Given the description of an element on the screen output the (x, y) to click on. 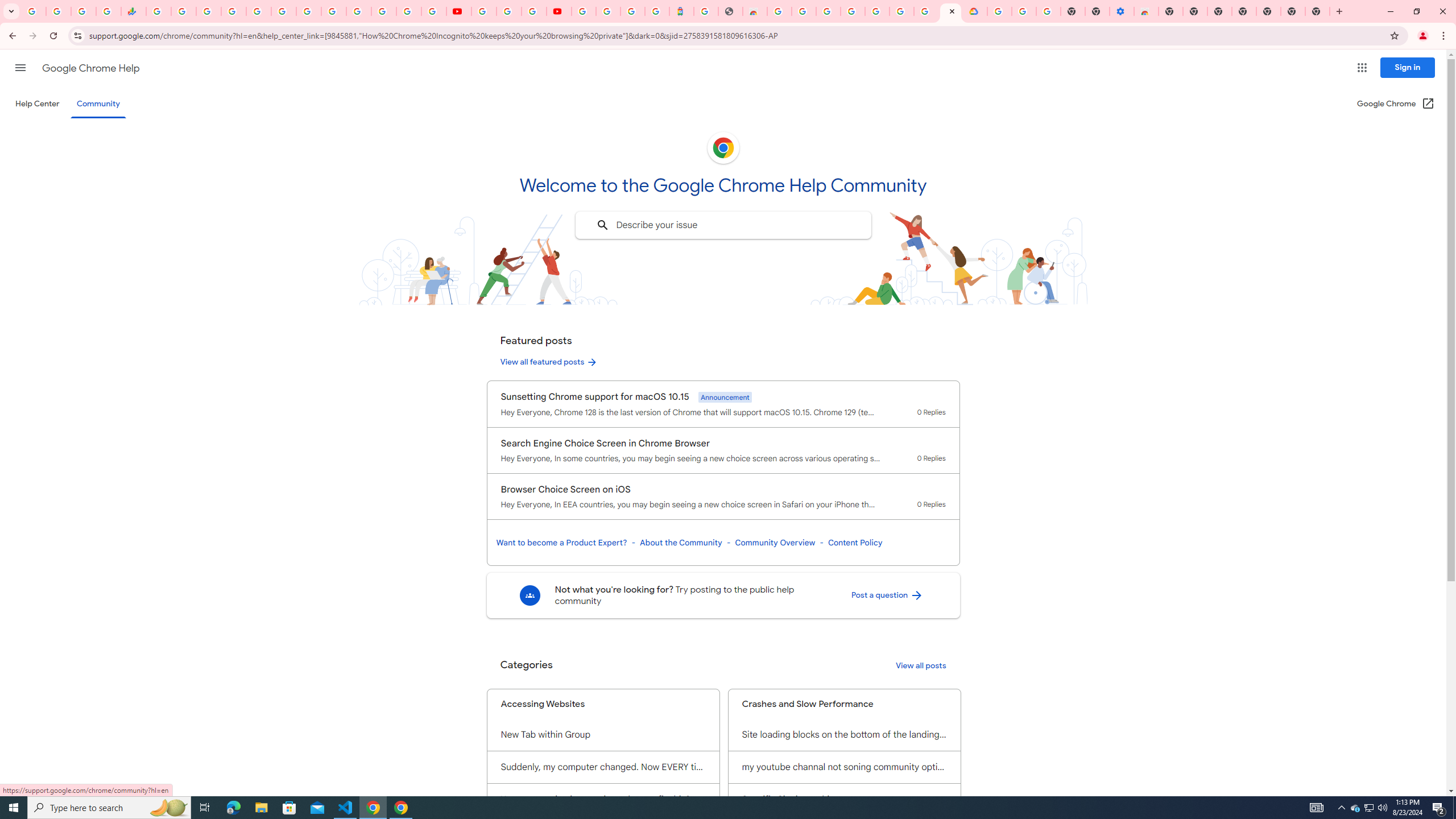
Sign in - Google Accounts (999, 11)
Chrome Web Store - Household (754, 11)
Google Chrome (Open in a new window) (1395, 103)
Help Center (36, 103)
Google Account Help (1023, 11)
Post a question  (886, 595)
Describe your issue to find information that might help you. (722, 225)
Community (97, 103)
